Given the description of an element on the screen output the (x, y) to click on. 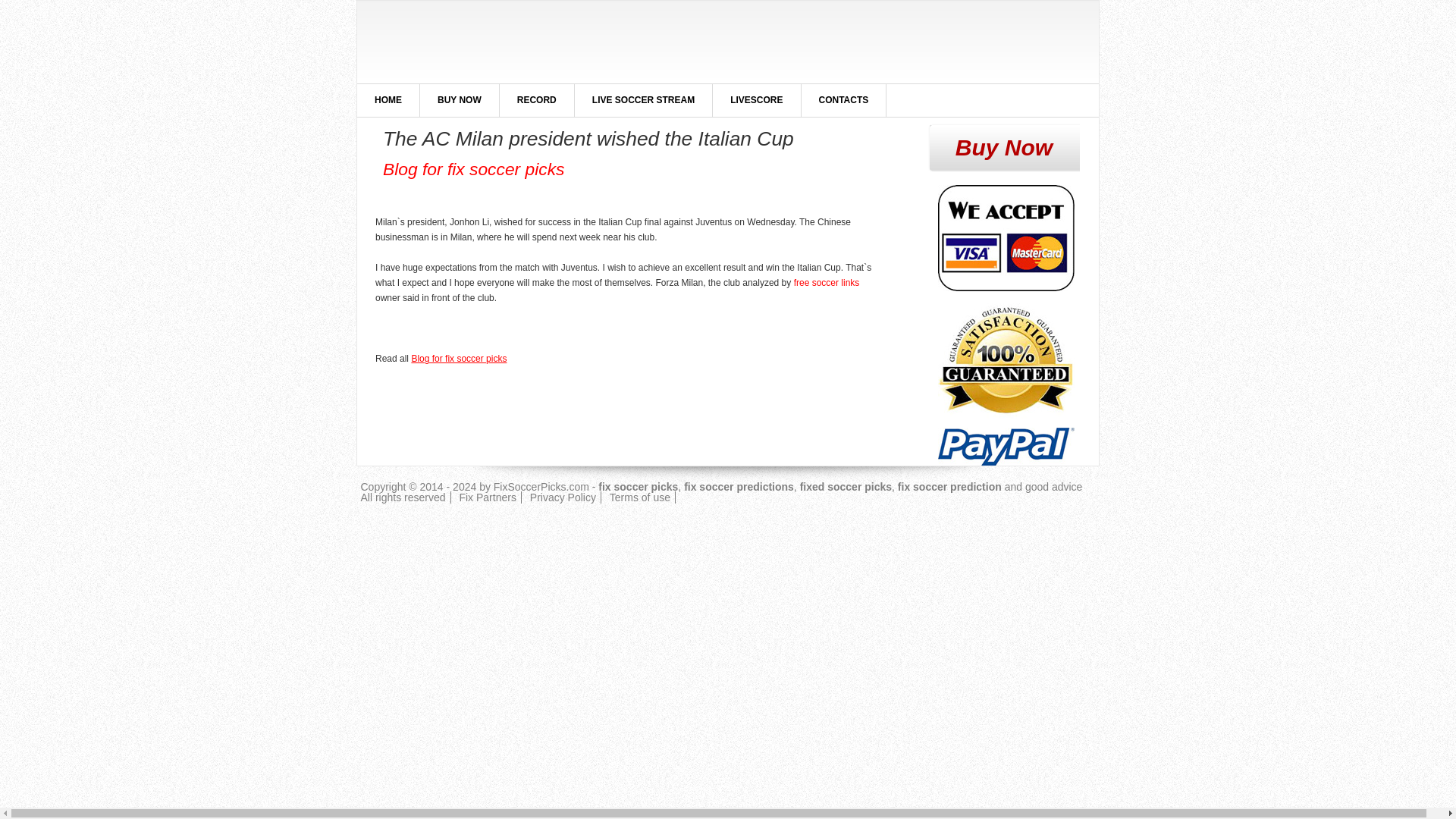
Blog for fix soccer picks (458, 357)
Blog for fix soccer picks (473, 168)
Terms of use (639, 497)
LIVE SOCCER STREAM (643, 100)
Fix Soccer Picks (493, 42)
FixSoccerPicks.com (541, 486)
HOME (387, 100)
free soccer links (826, 282)
Fix Partners (486, 497)
LIVESCORE (756, 100)
Buy Now (1004, 147)
Privacy Policy (562, 497)
CONTACTS (844, 100)
BUY NOW (459, 100)
RECORD (536, 100)
